Given the description of an element on the screen output the (x, y) to click on. 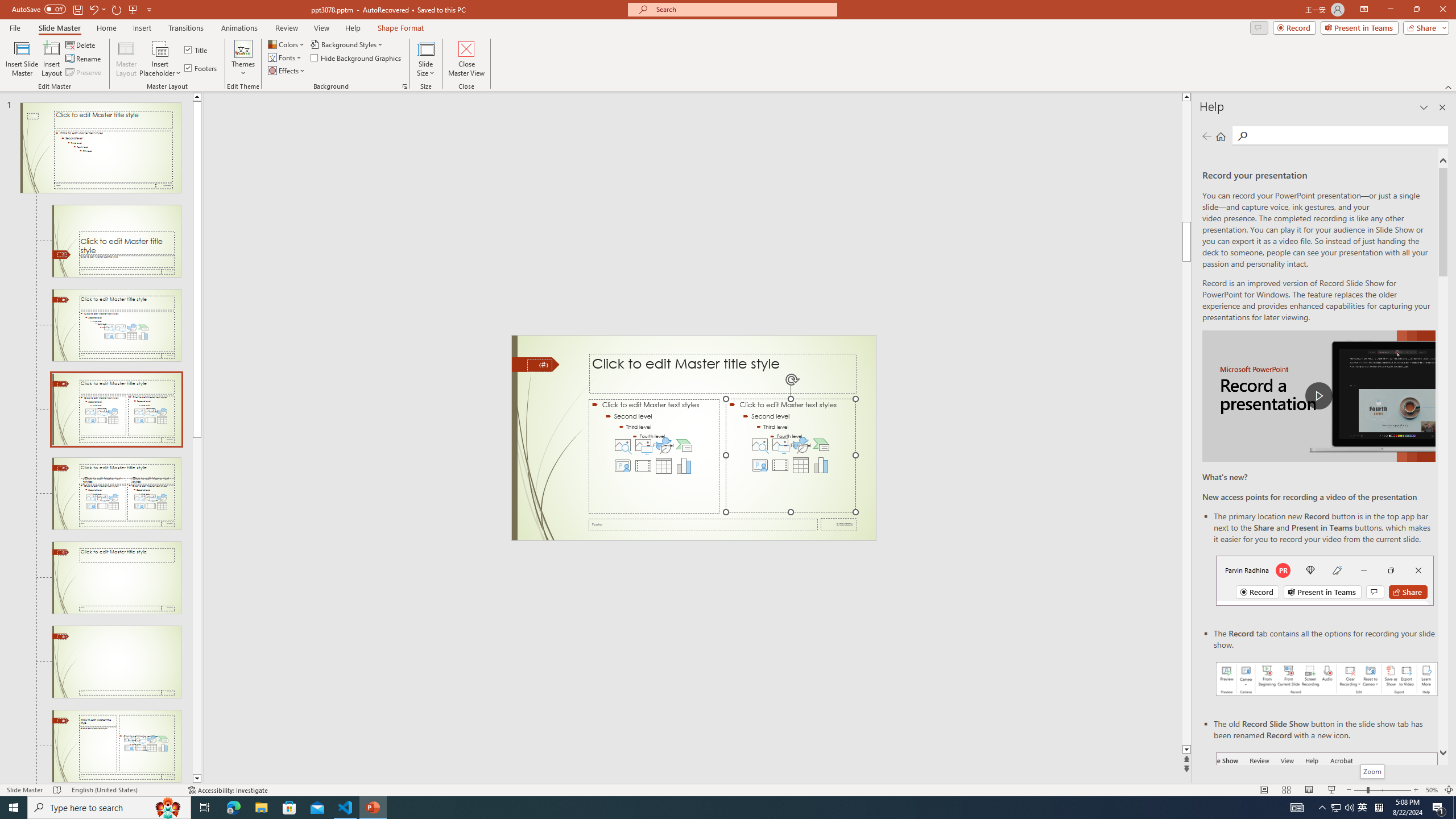
Slide Two Content Layout: used by no slides (116, 493)
Content (160, 48)
Master Layout... (126, 58)
